Given the description of an element on the screen output the (x, y) to click on. 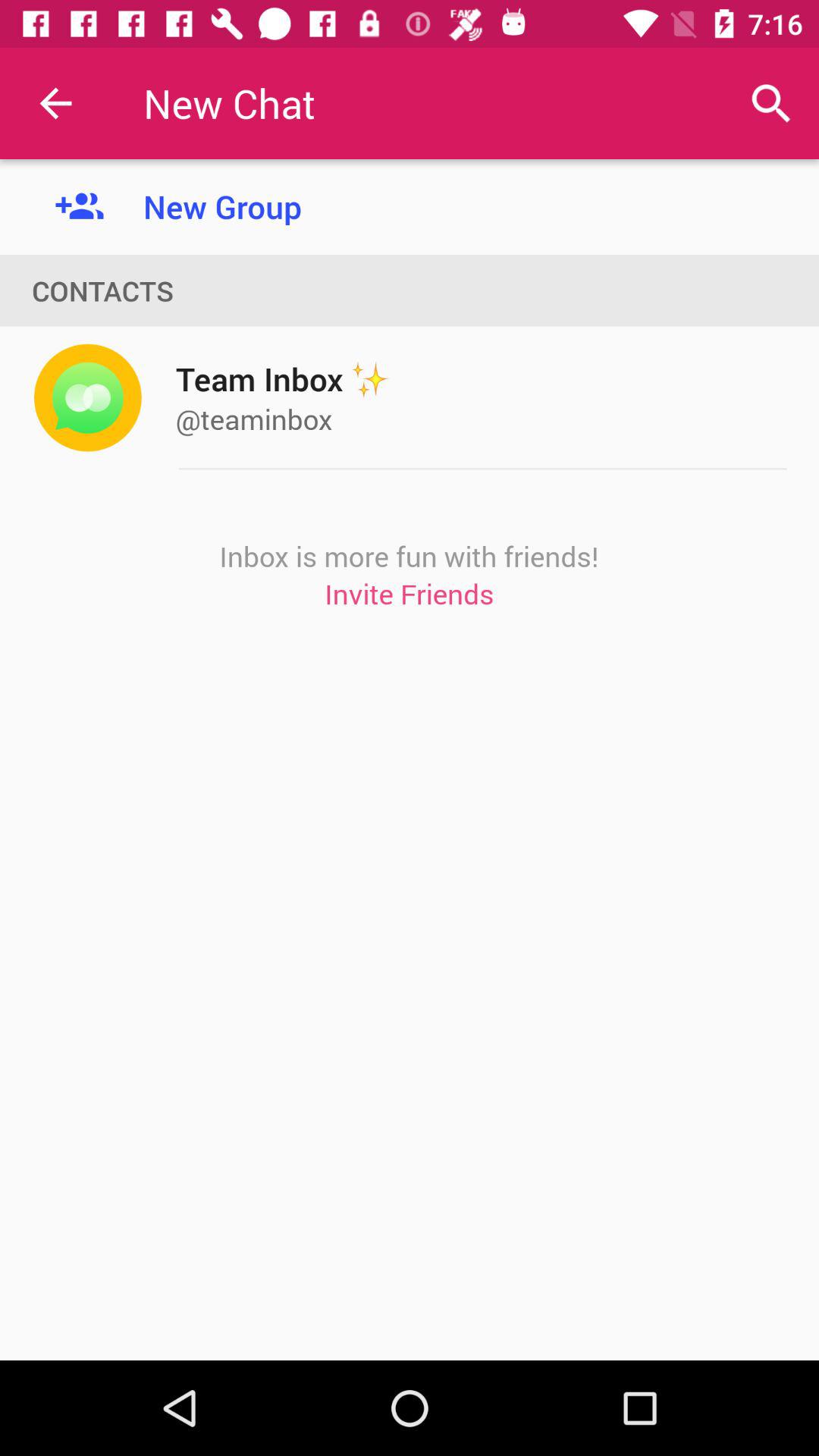
press the item to the left of the new group (55, 103)
